Given the description of an element on the screen output the (x, y) to click on. 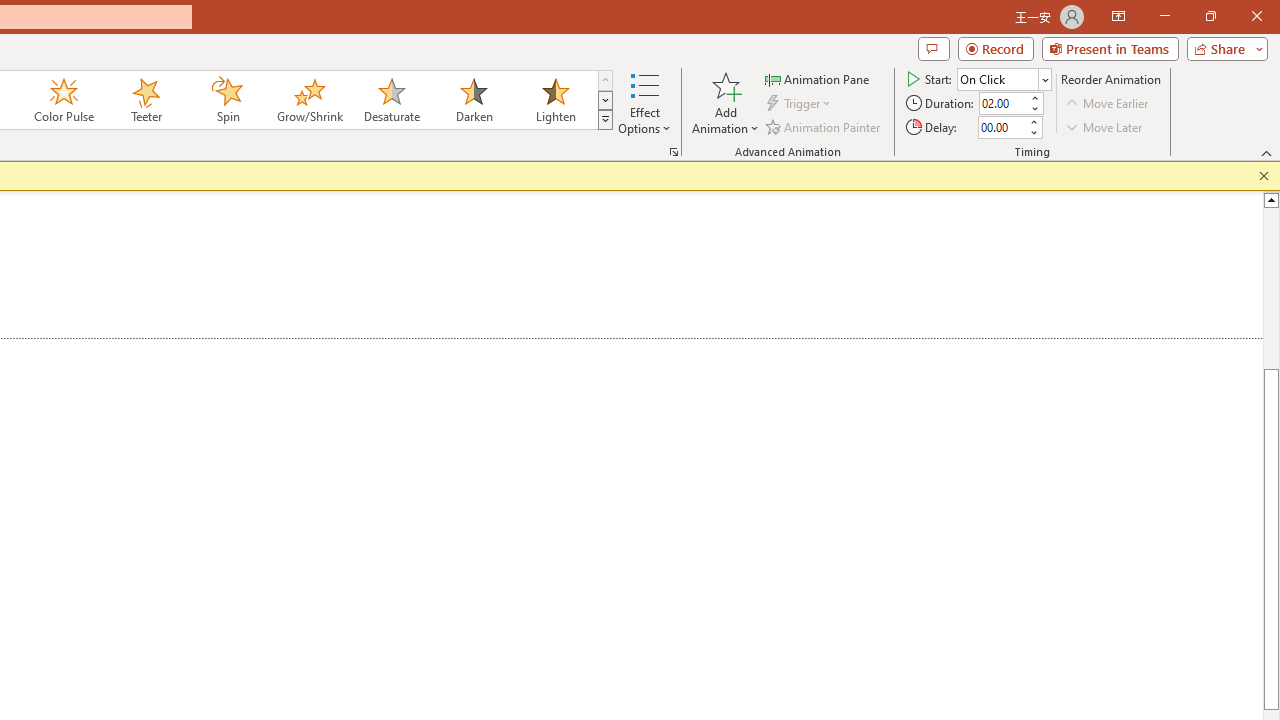
Grow/Shrink (309, 100)
More (1033, 121)
Close this message (1263, 176)
Spin (227, 100)
Present in Teams (1109, 48)
Minimize (1164, 16)
Teeter (145, 100)
Move Earlier (1107, 103)
Desaturate (391, 100)
Open (1044, 79)
Move Later (1105, 126)
Close (1256, 16)
Class: NetUIImage (605, 119)
Row up (605, 79)
Animation Duration (1003, 103)
